Given the description of an element on the screen output the (x, y) to click on. 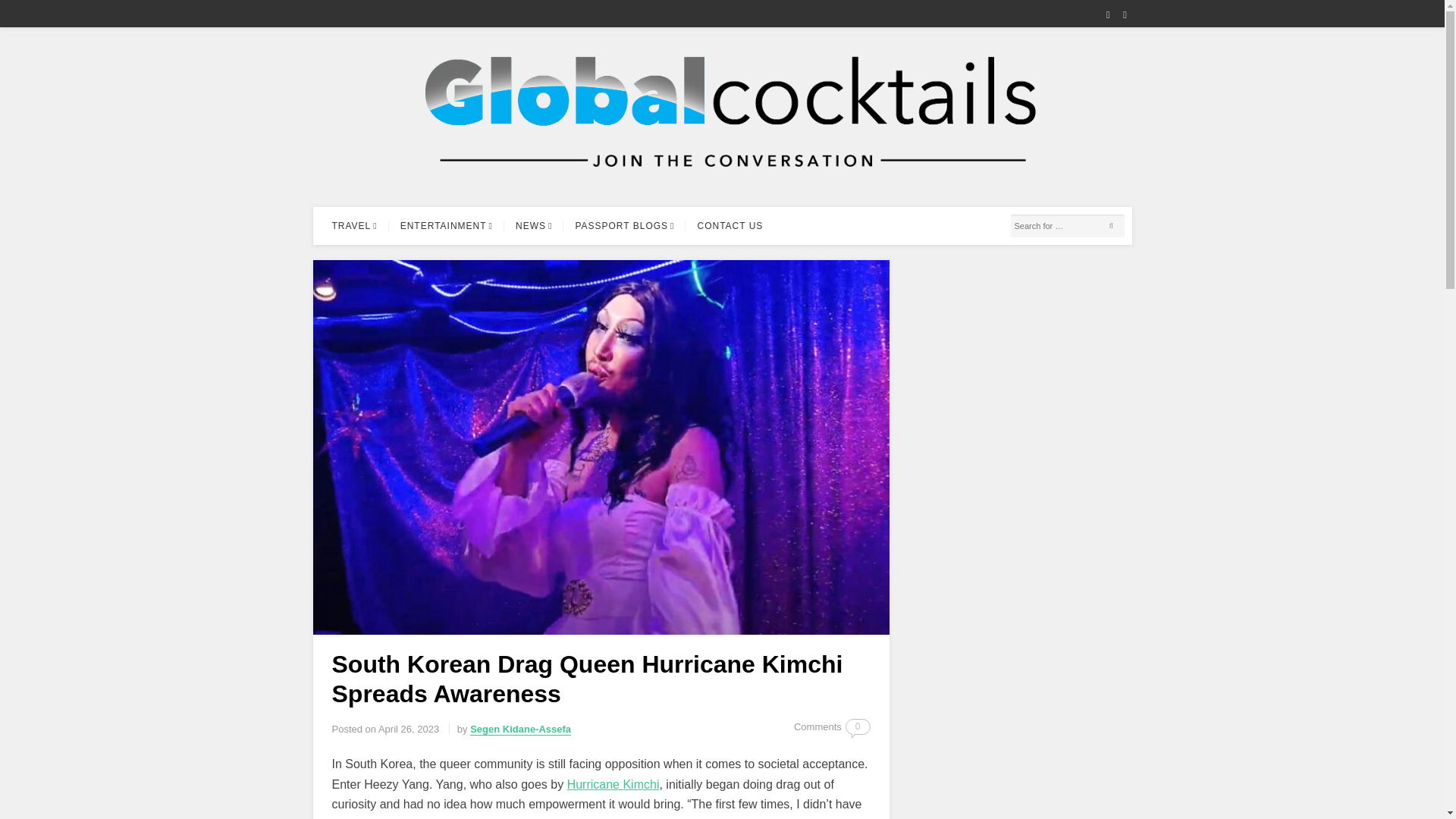
3rd party ad content (1017, 354)
3rd party ad content (1017, 559)
TRAVEL (354, 225)
ENTERTAINMENT (445, 225)
NEWS (533, 225)
3rd party ad content (1017, 744)
